Given the description of an element on the screen output the (x, y) to click on. 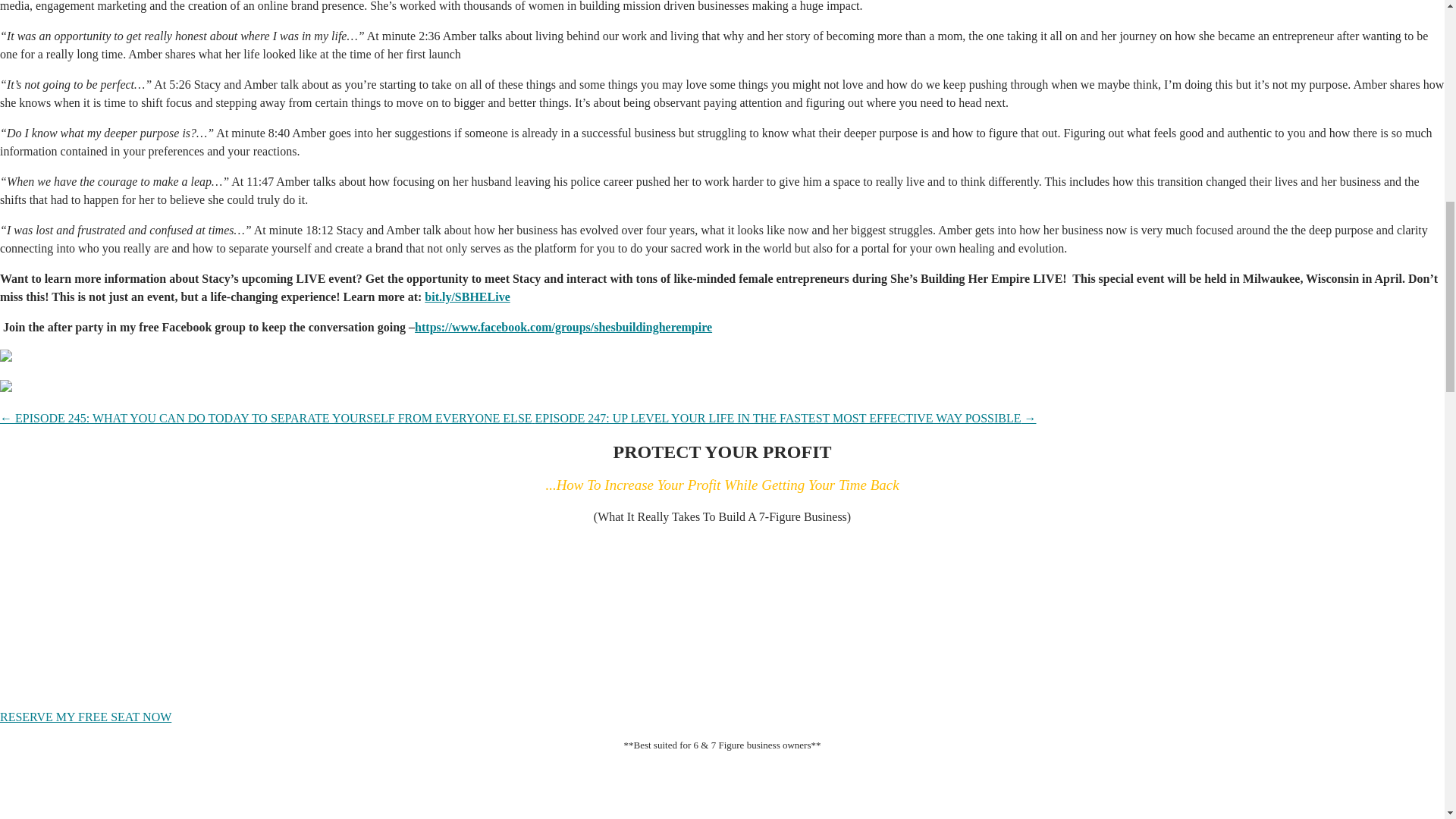
RESERVE MY FREE SEAT NOW (85, 716)
